Given the description of an element on the screen output the (x, y) to click on. 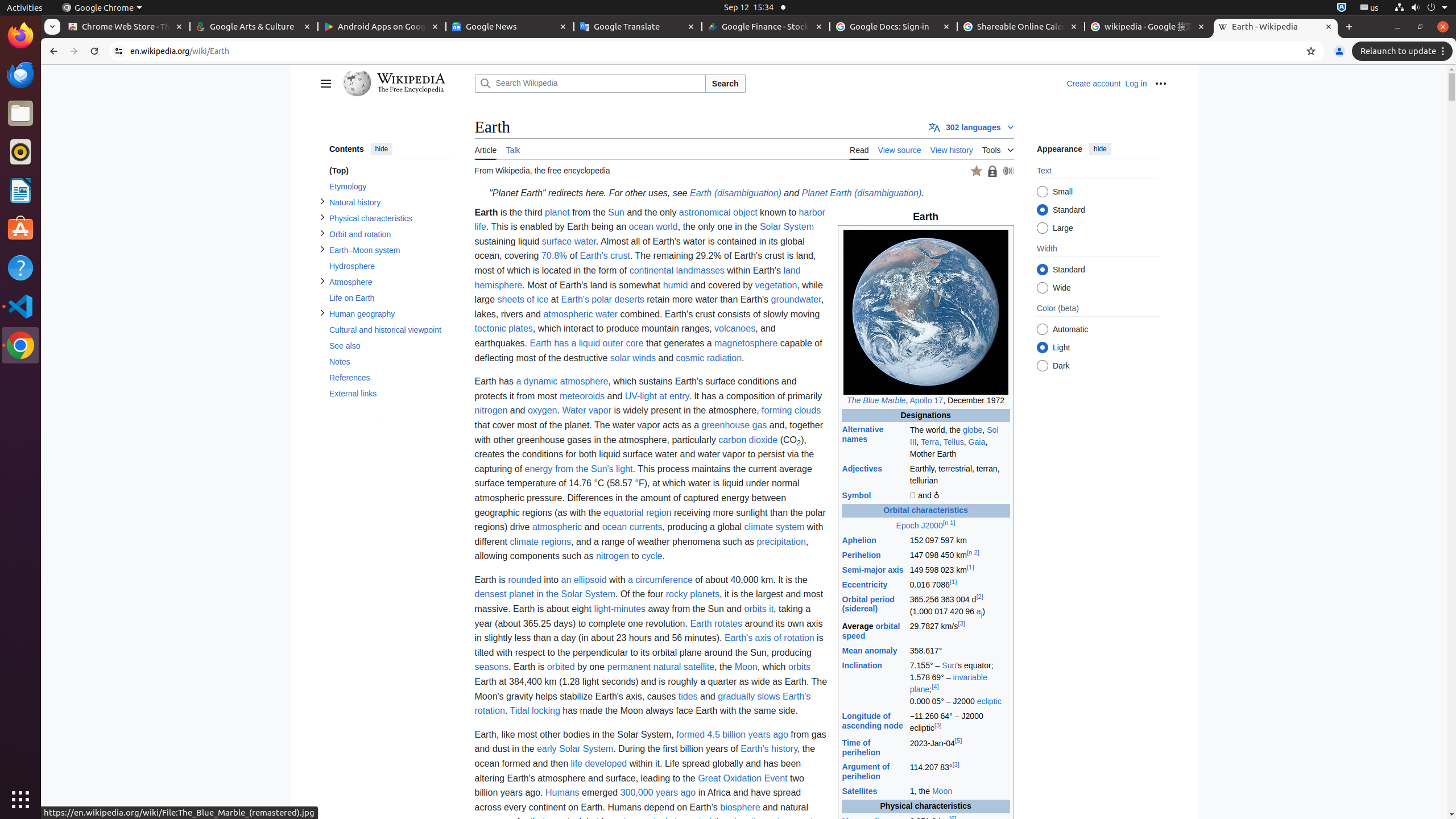
meteoroids Element type: link (582, 395)
deserts Element type: link (629, 299)
Automatic Element type: radio-button (1042, 329)
70.8% Element type: link (553, 255)
Toggle Atmosphere subsection Element type: push-button (321, 280)
